Given the description of an element on the screen output the (x, y) to click on. 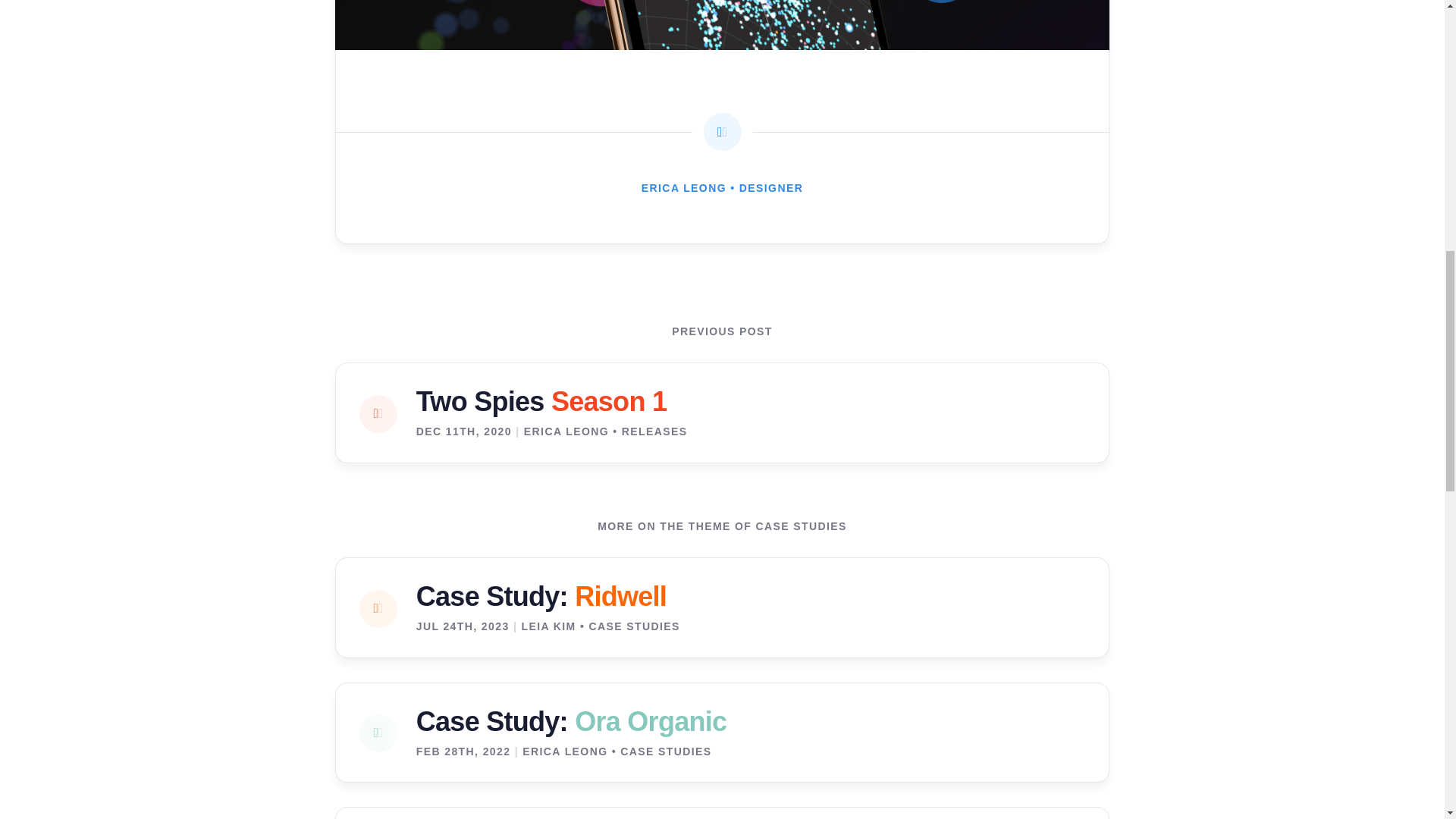
Two Spies Season 1 (541, 401)
Case Study: Ridwell (541, 596)
Case Study: Ora Organic (571, 721)
